Given the description of an element on the screen output the (x, y) to click on. 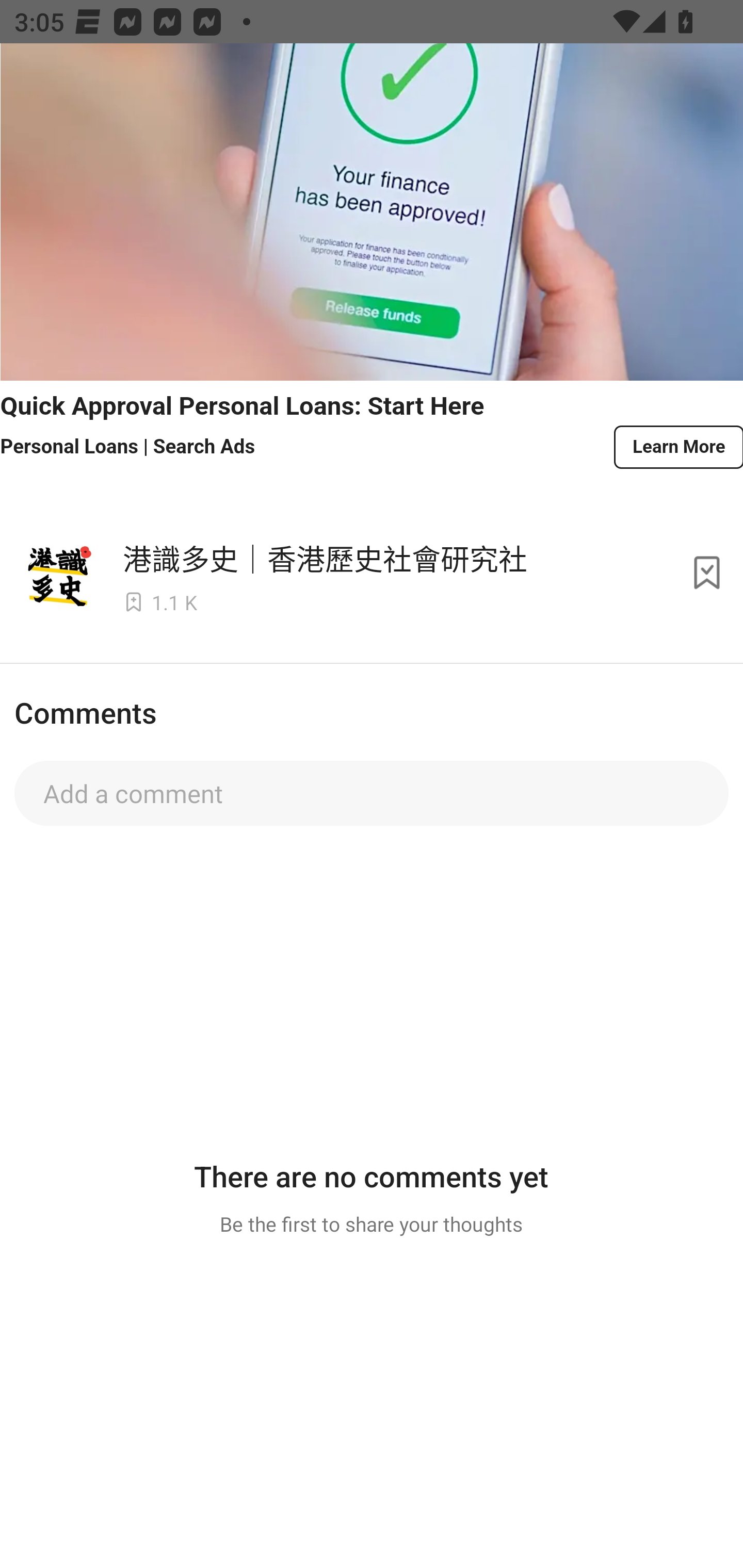
Learn More (677, 446)
港識多史｜香港歷史社會研究社  1.1 K Subscribe (371, 572)
Subscribe (706, 572)
Add a comment (371, 793)
